Given the description of an element on the screen output the (x, y) to click on. 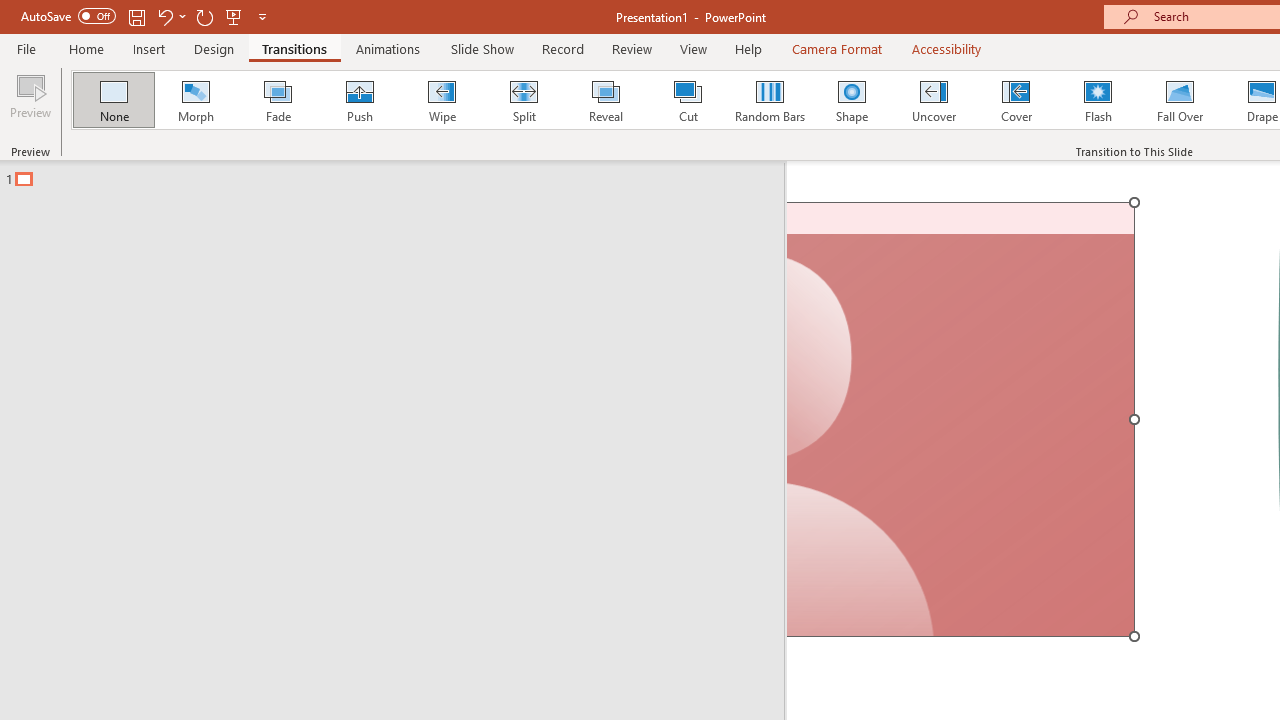
None (113, 100)
Random Bars (770, 100)
Split (523, 100)
Wipe (441, 100)
Reveal (605, 100)
Outline (401, 174)
Uncover (934, 100)
